Given the description of an element on the screen output the (x, y) to click on. 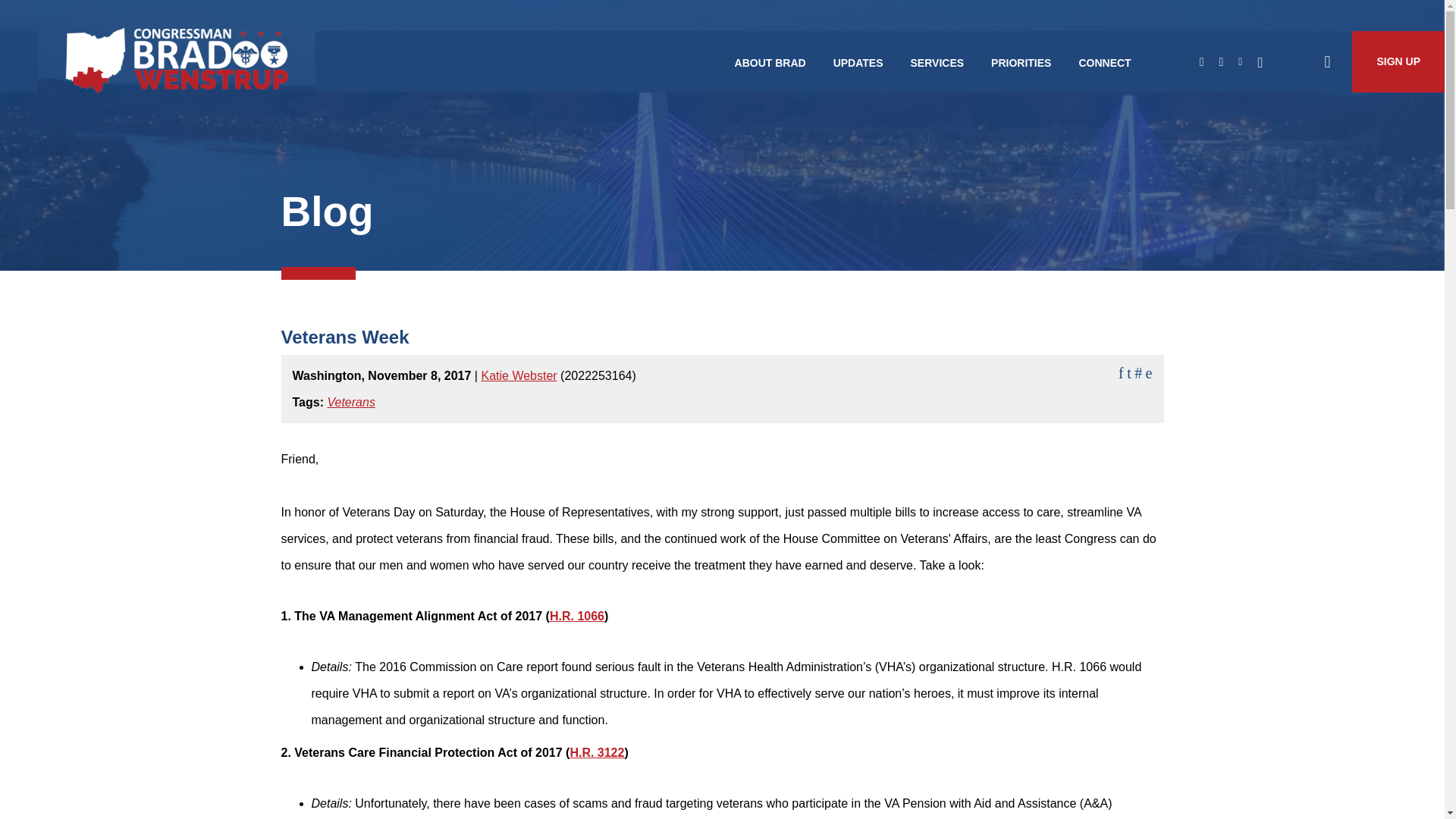
SERVICES (937, 61)
PRIORITIES (1020, 61)
UPDATES (858, 61)
ABOUT BRAD (769, 61)
